Given the description of an element on the screen output the (x, y) to click on. 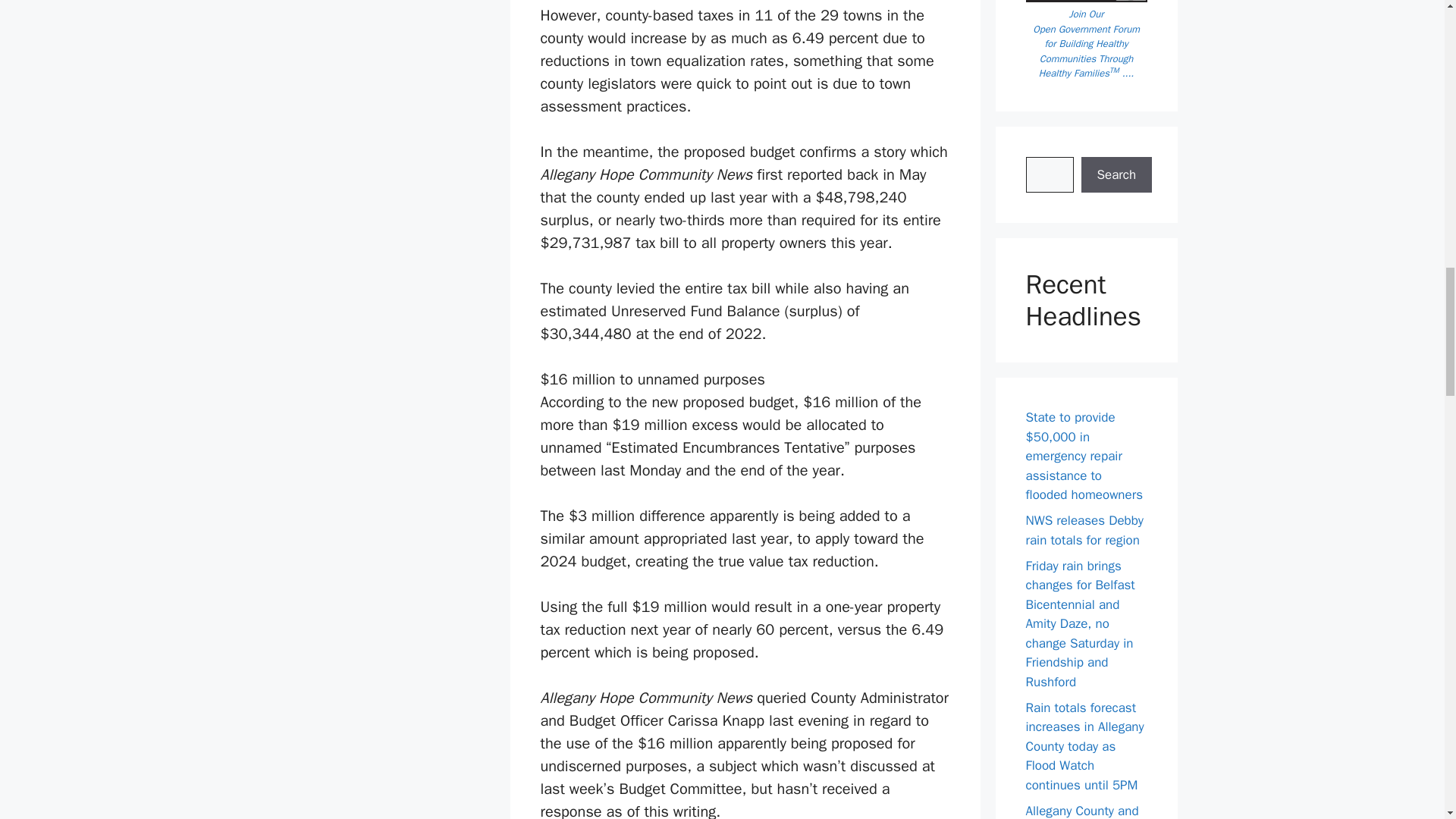
Open Government Forum (1086, 29)
Join Our (1085, 13)
